Given the description of an element on the screen output the (x, y) to click on. 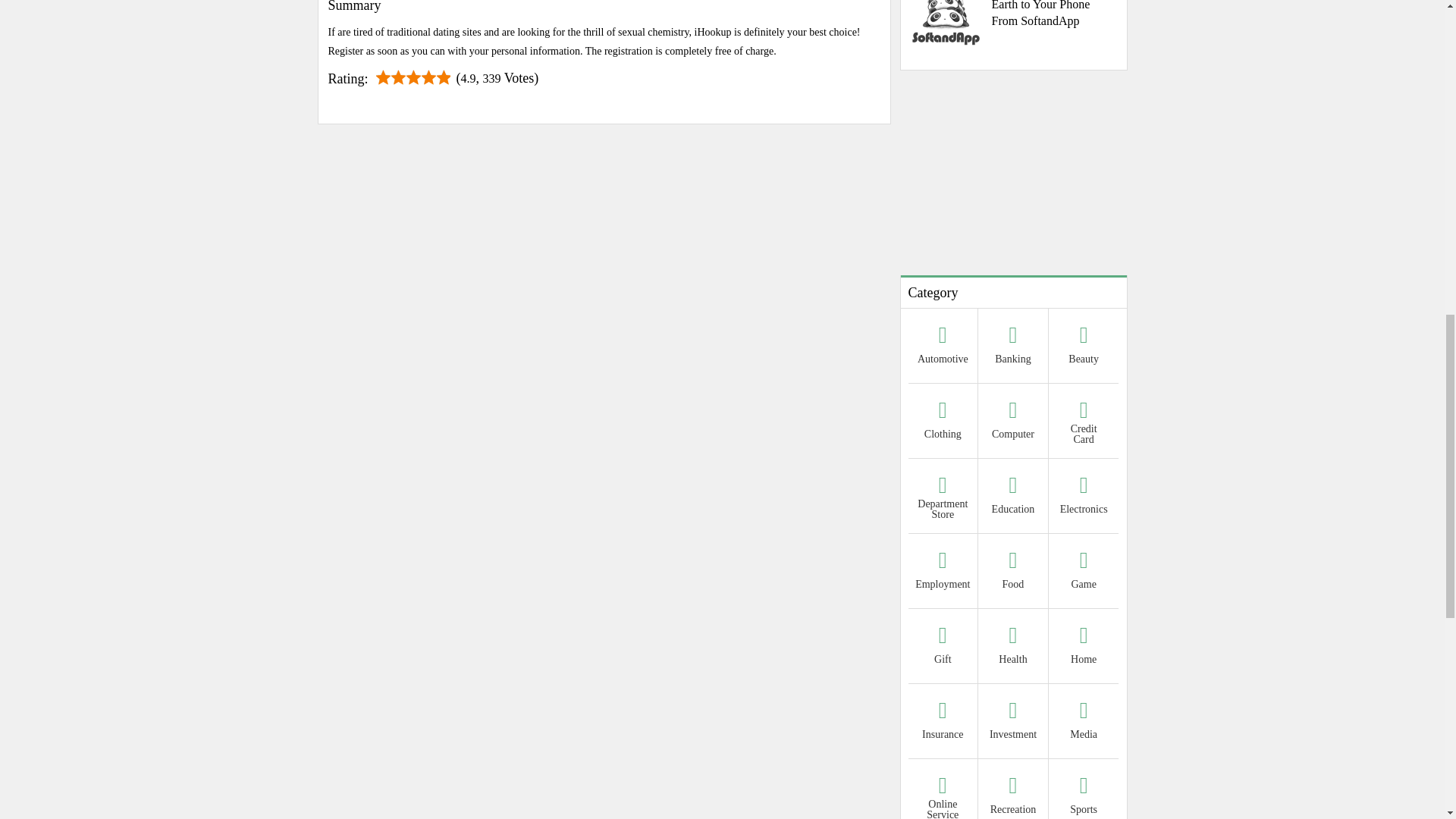
Computer (1013, 422)
Electronics (1083, 497)
Advertisement (1012, 172)
Clothing (943, 422)
Health (1013, 647)
Home (1083, 647)
Food (1013, 572)
Game (1083, 572)
Education (1013, 497)
Department Store (943, 497)
